Given the description of an element on the screen output the (x, y) to click on. 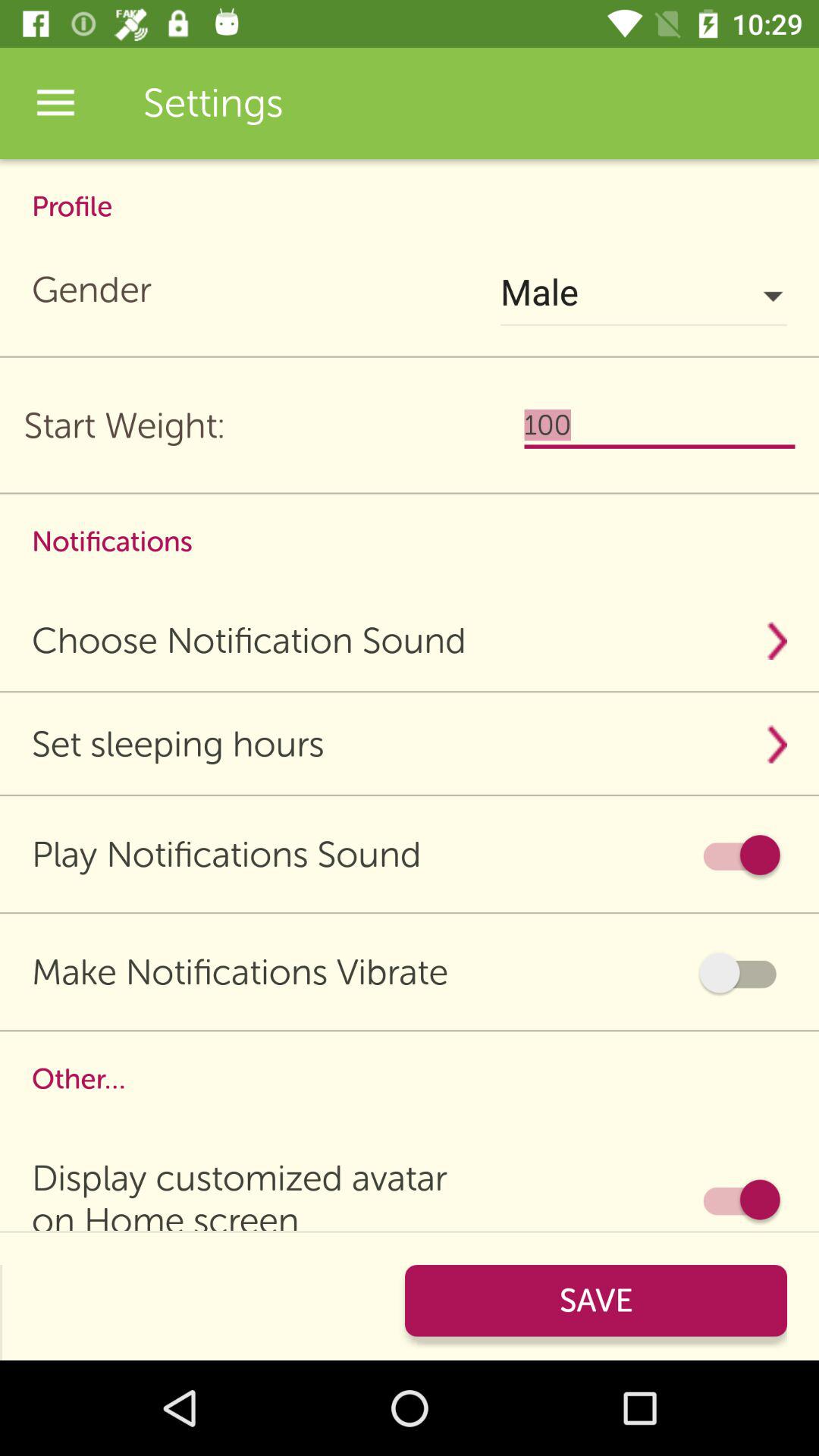
click on the pink button which is at bottom right corner of the page (595, 1300)
click on the dropdown button beside the text set sleeping hours (777, 743)
click to the right side of start weight below male (659, 426)
click on the button which is above the save (739, 1200)
